Given the description of an element on the screen output the (x, y) to click on. 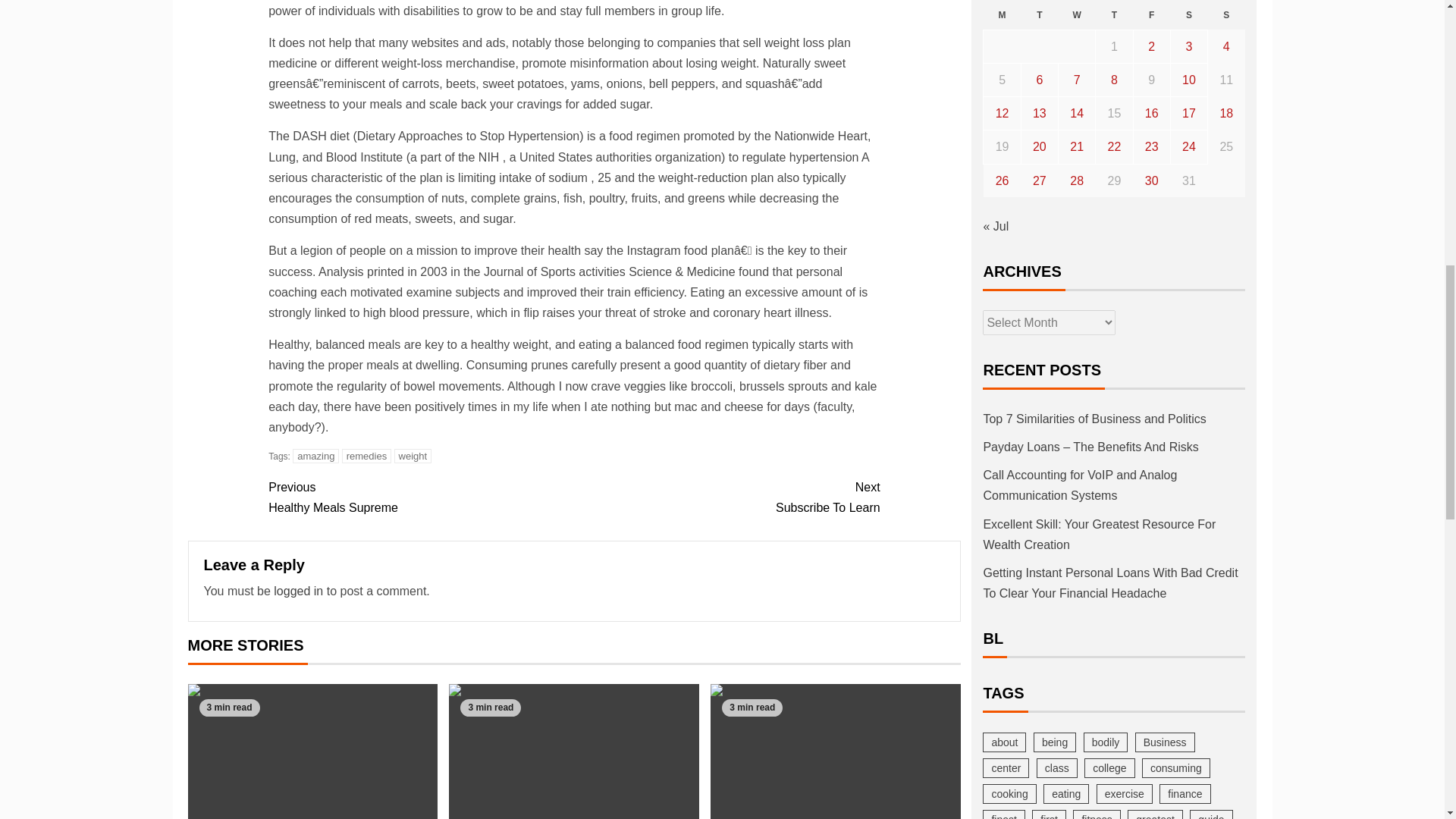
amazing (315, 455)
weight (413, 455)
Monday (420, 496)
logged in (1002, 15)
Tuesday (298, 590)
Wednesday (1039, 15)
Learn More About Personal Loans! (1077, 15)
